Given the description of an element on the screen output the (x, y) to click on. 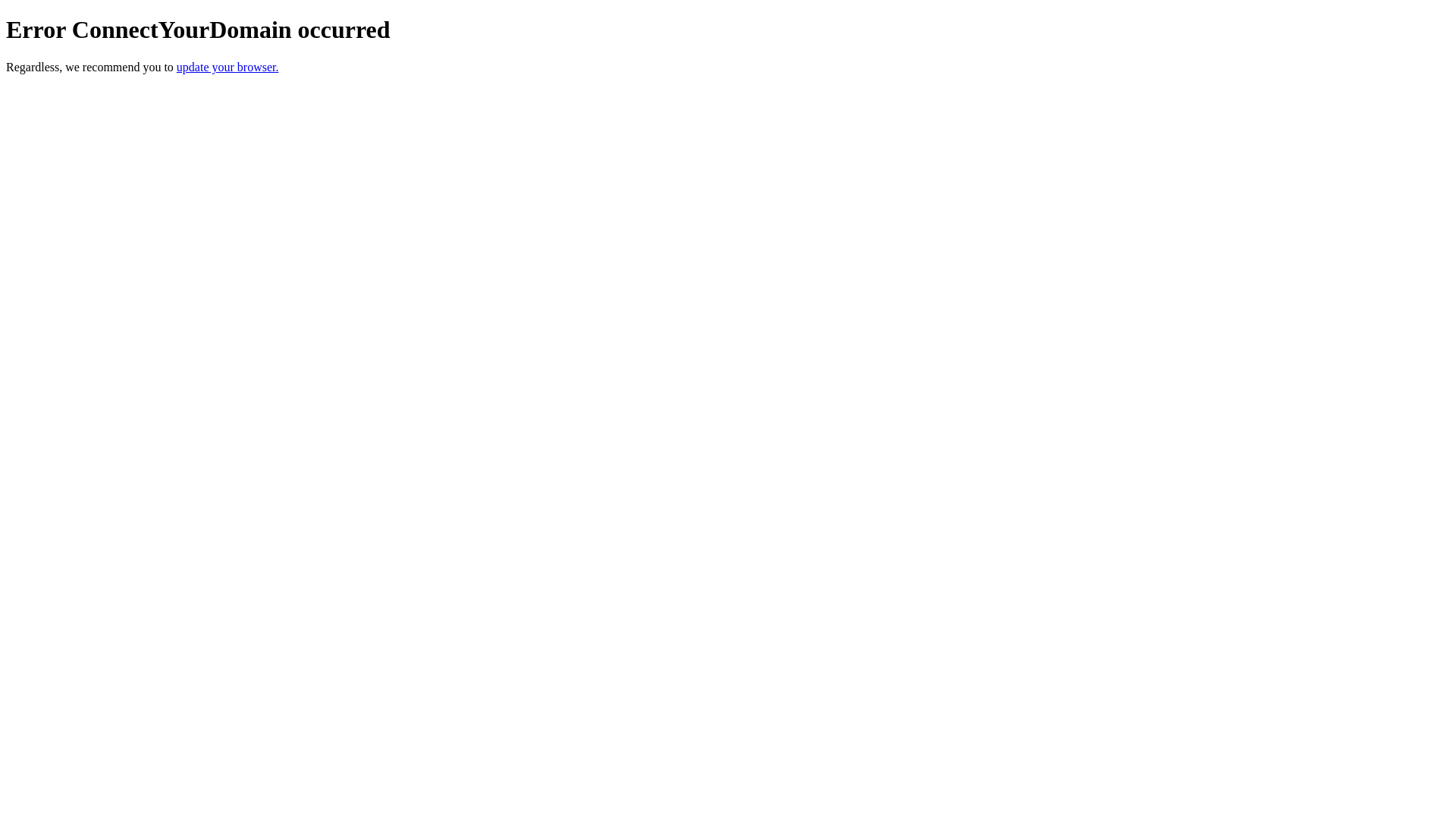
update your browser. Element type: text (227, 66)
